Given the description of an element on the screen output the (x, y) to click on. 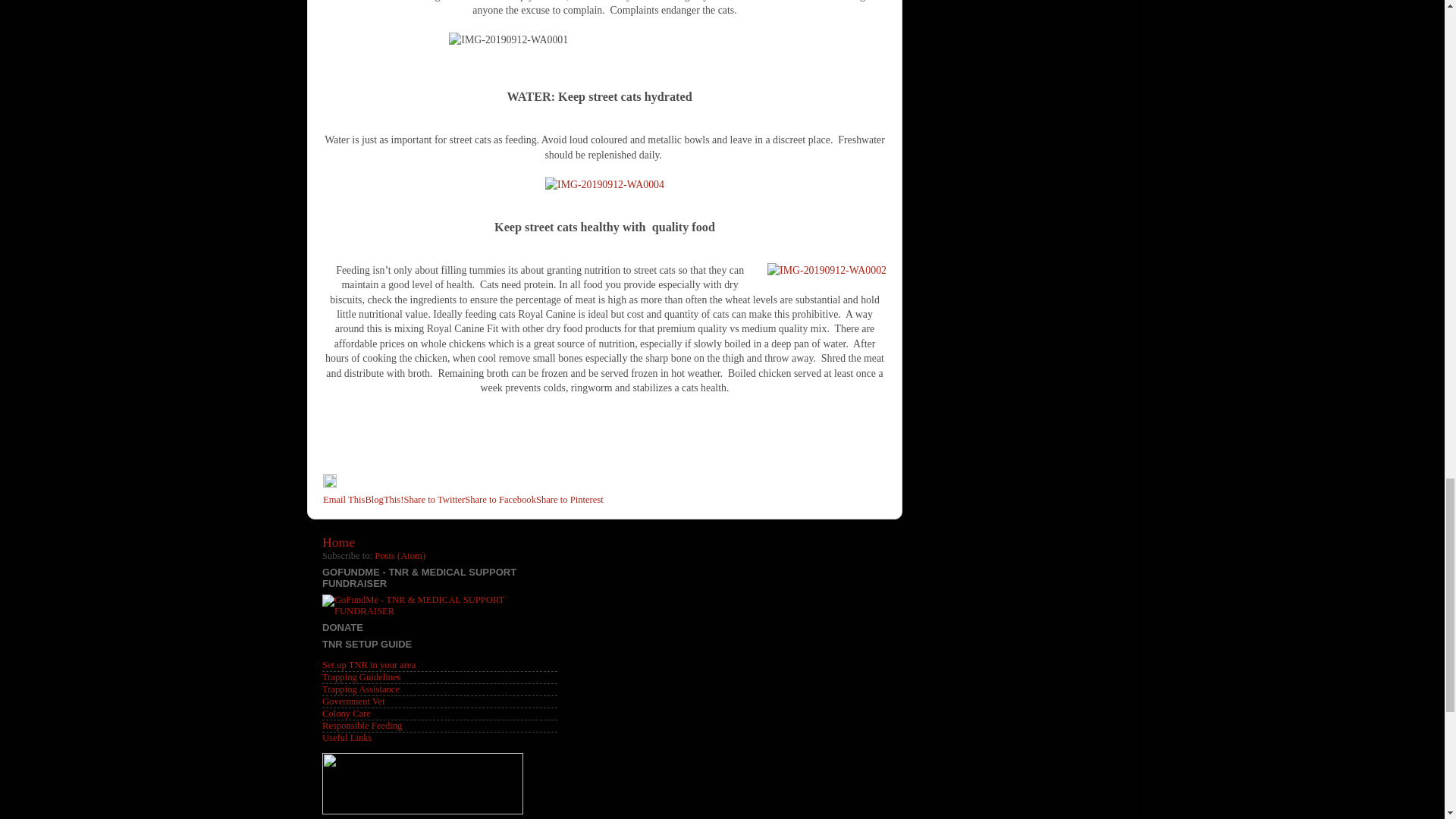
Share to Pinterest (569, 499)
Edit page (329, 484)
Share to Twitter (433, 499)
Responsible Feeding (361, 725)
BlogThis! (384, 499)
Share to Facebook (499, 499)
BlogThis! (384, 499)
Colony Care (346, 713)
Email This (344, 499)
Government Vet (353, 701)
Trapping Guidelines (360, 676)
Home (338, 541)
Share to Facebook (499, 499)
Share to Pinterest (569, 499)
Trapping Assistance (359, 688)
